Given the description of an element on the screen output the (x, y) to click on. 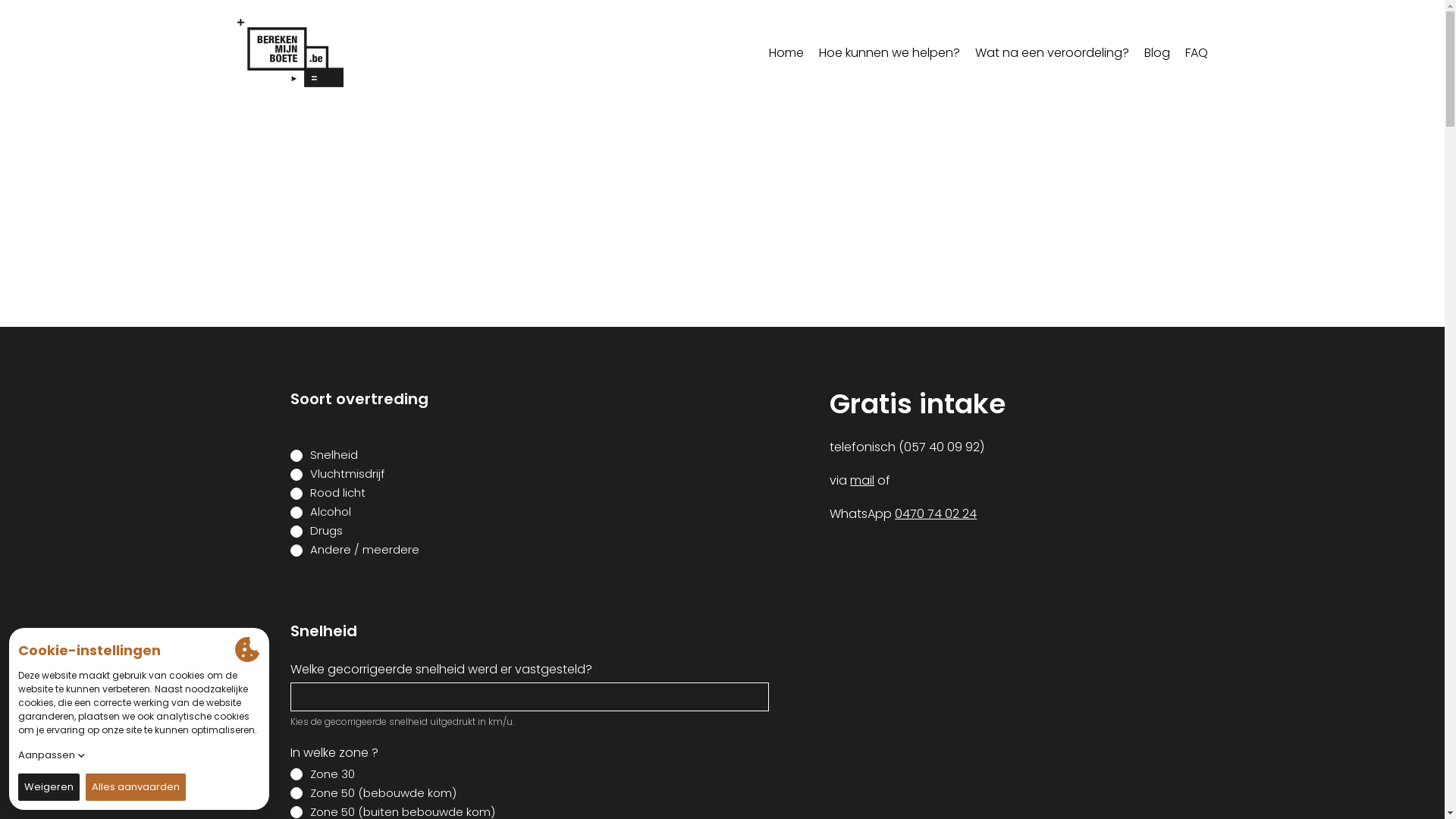
Home Element type: text (785, 52)
mail Element type: text (862, 480)
0470 74 02 24 Element type: text (935, 513)
FAQ Element type: text (1195, 52)
Hoe kunnen we helpen? Element type: text (889, 52)
Blog Element type: text (1156, 52)
Wat na een veroordeling? Element type: text (1052, 52)
